Given the description of an element on the screen output the (x, y) to click on. 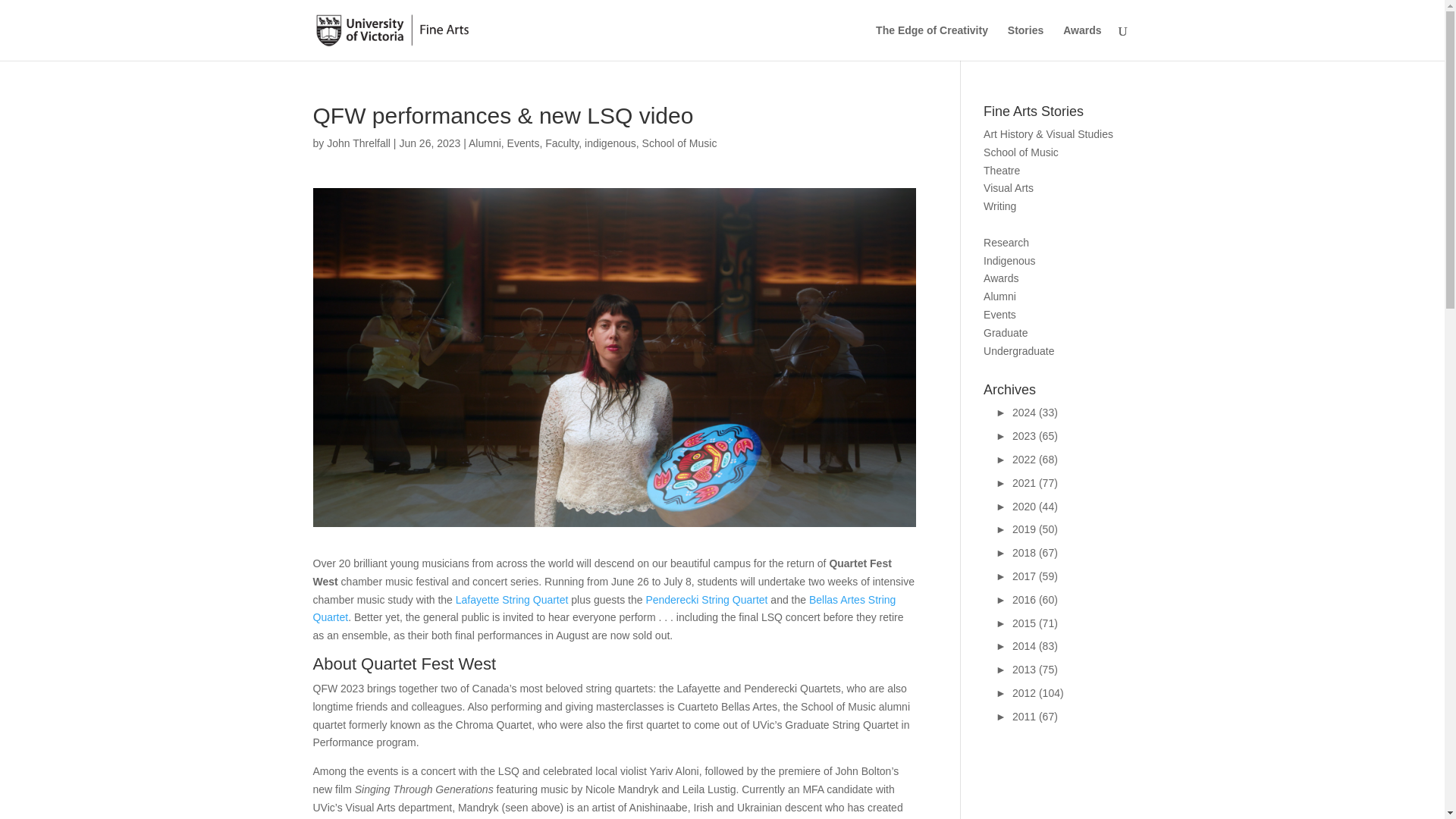
indigenous (610, 143)
School of Music (1021, 152)
The Edge of Creativity (932, 42)
Awards (1000, 277)
Awards (1081, 42)
Penderecki String Quartet (706, 599)
2024 (1003, 412)
Undergraduate (1019, 350)
Lafayette String Quartet (512, 599)
Events (1000, 314)
Writing (1000, 205)
Stories (1025, 42)
Graduate (1005, 332)
2024 (1034, 412)
Alumni (1000, 296)
